Given the description of an element on the screen output the (x, y) to click on. 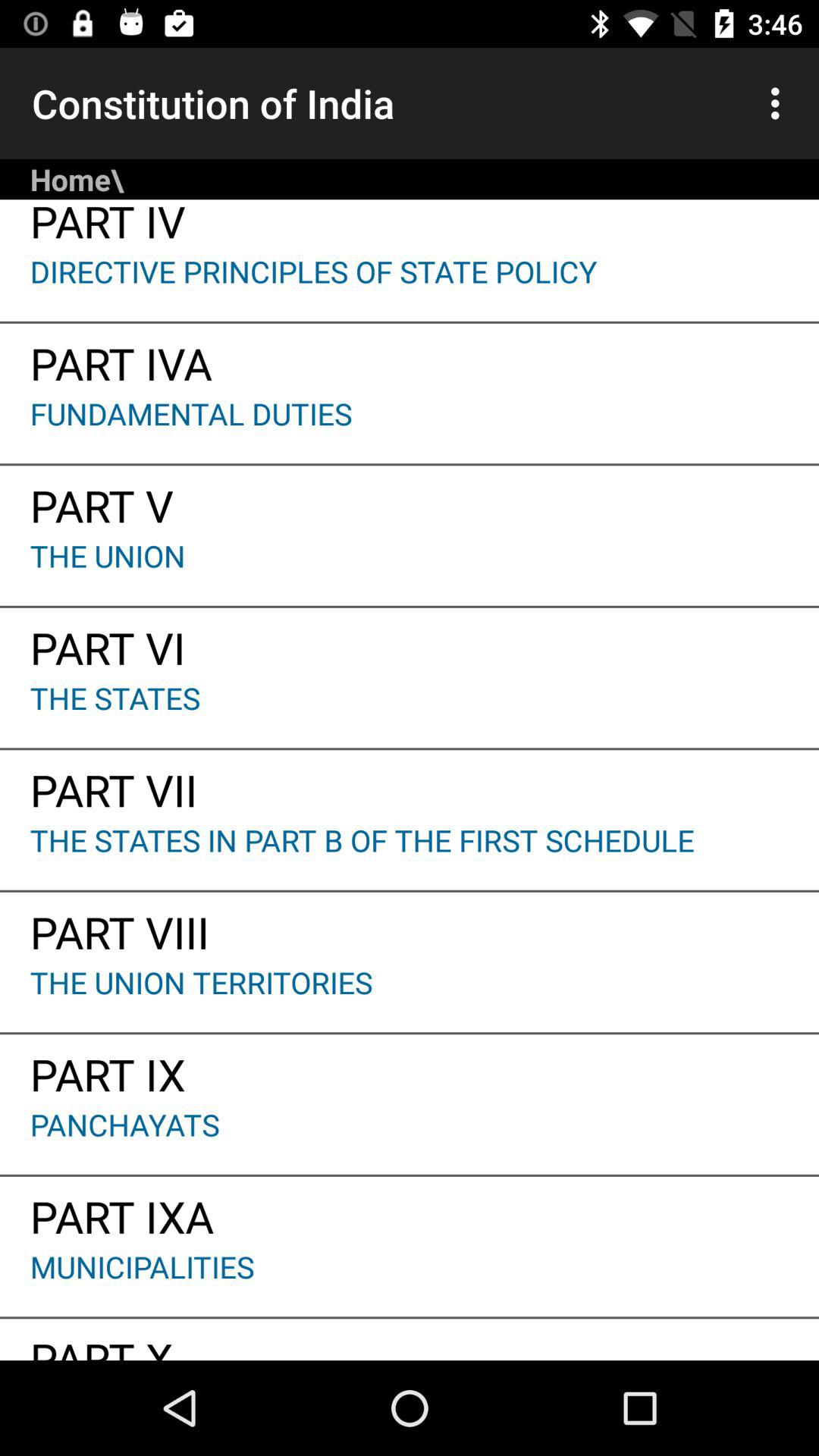
jump to the part v (409, 500)
